Given the description of an element on the screen output the (x, y) to click on. 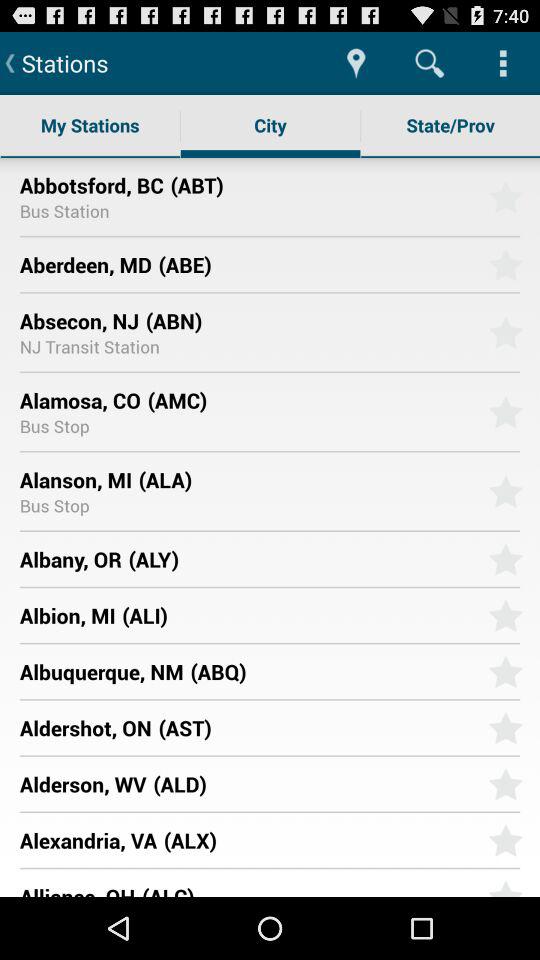
tap (ali) icon (298, 615)
